Given the description of an element on the screen output the (x, y) to click on. 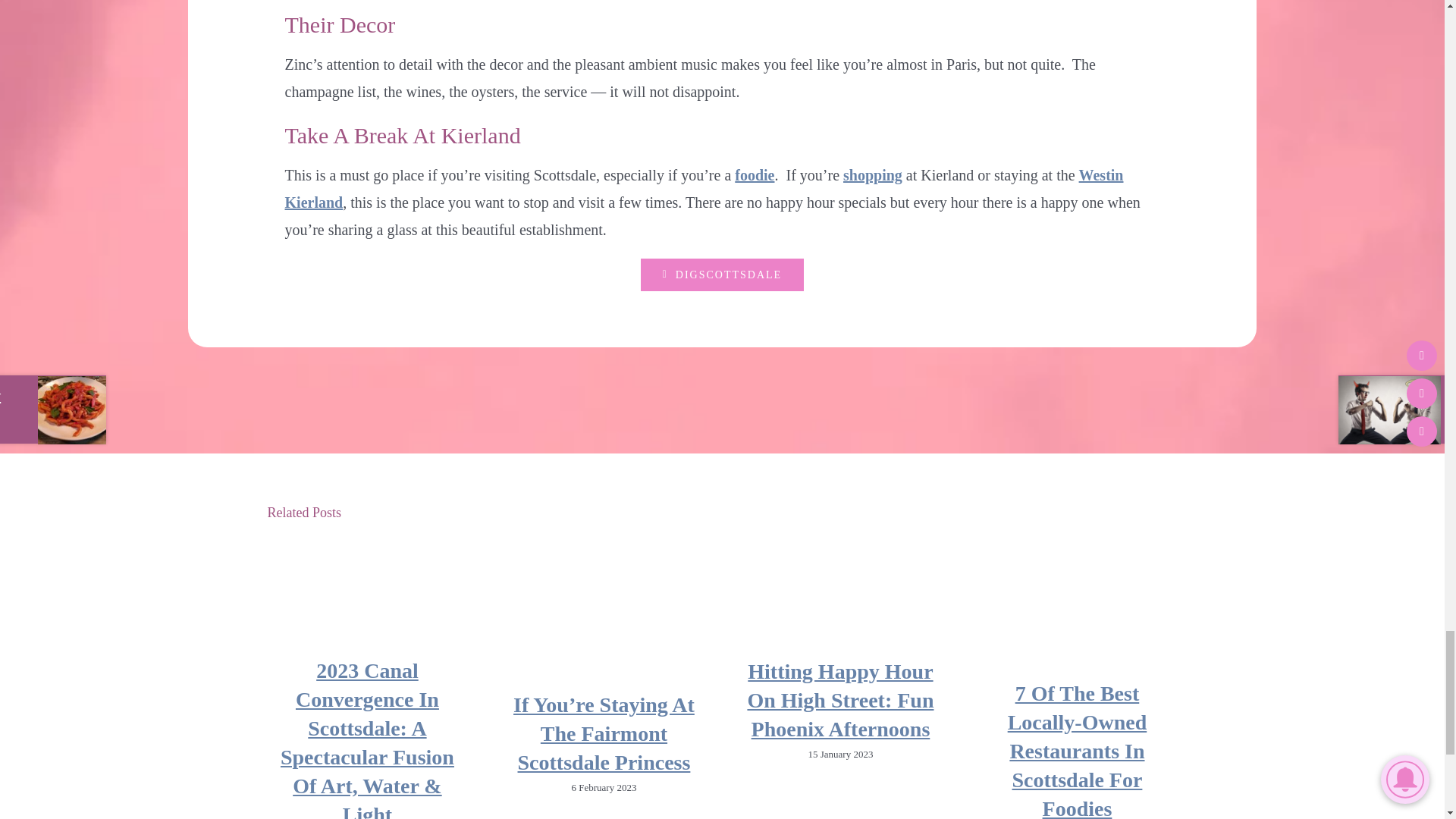
Hitting Happy Hour On High Street: Fun Phoenix Afternoons (839, 700)
shopping (872, 175)
Westin Kierland (704, 188)
DIGSCOTTSDALE (721, 274)
foodie (754, 175)
